Given the description of an element on the screen output the (x, y) to click on. 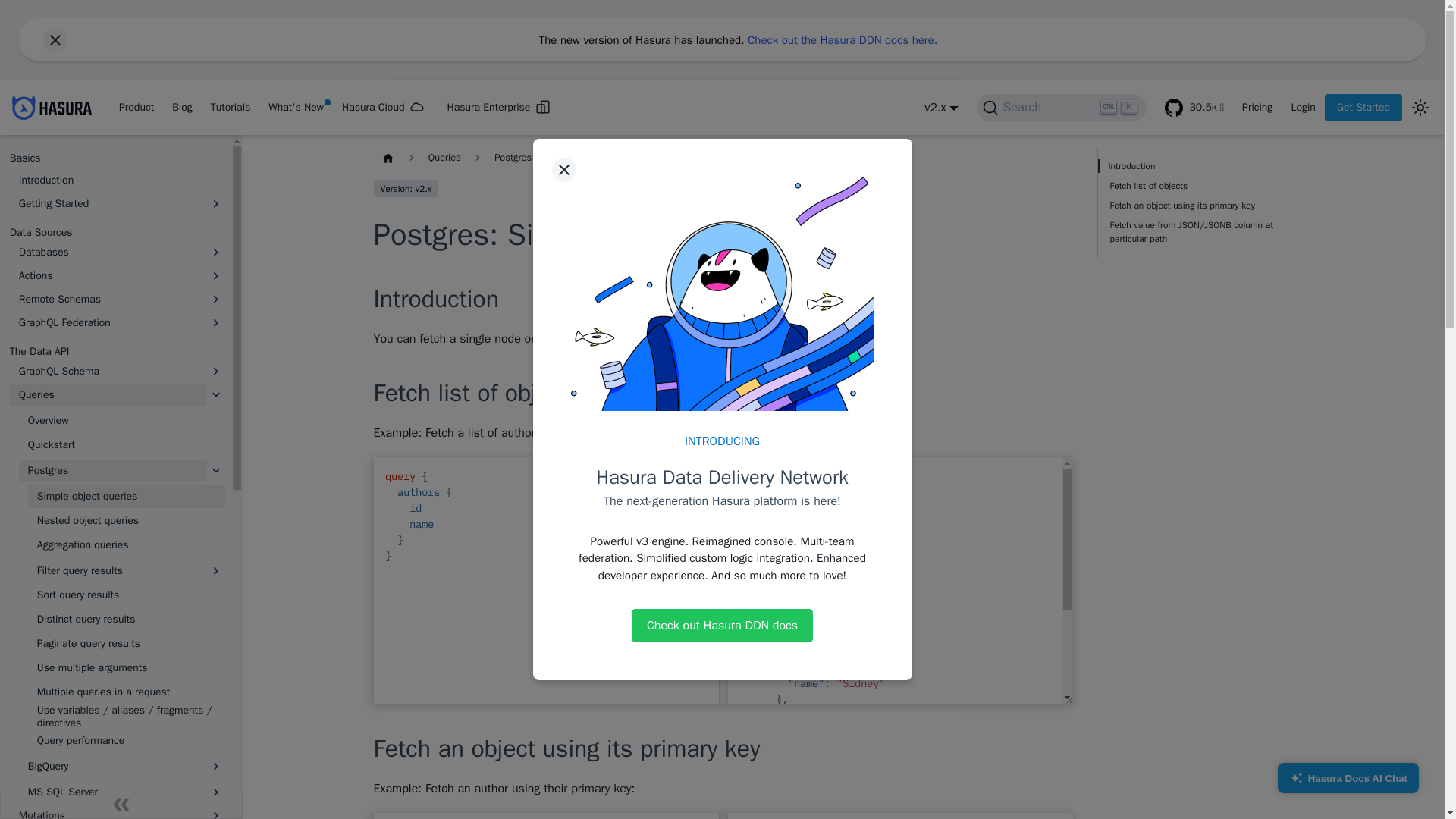
Queries (108, 395)
Get Started (1363, 107)
Pricing (1257, 107)
GraphQL Federation (108, 323)
Getting Started (108, 203)
Databases (108, 251)
v2.x (941, 107)
Product (136, 107)
Blog (182, 107)
GraphQL Schema (108, 371)
